Given the description of an element on the screen output the (x, y) to click on. 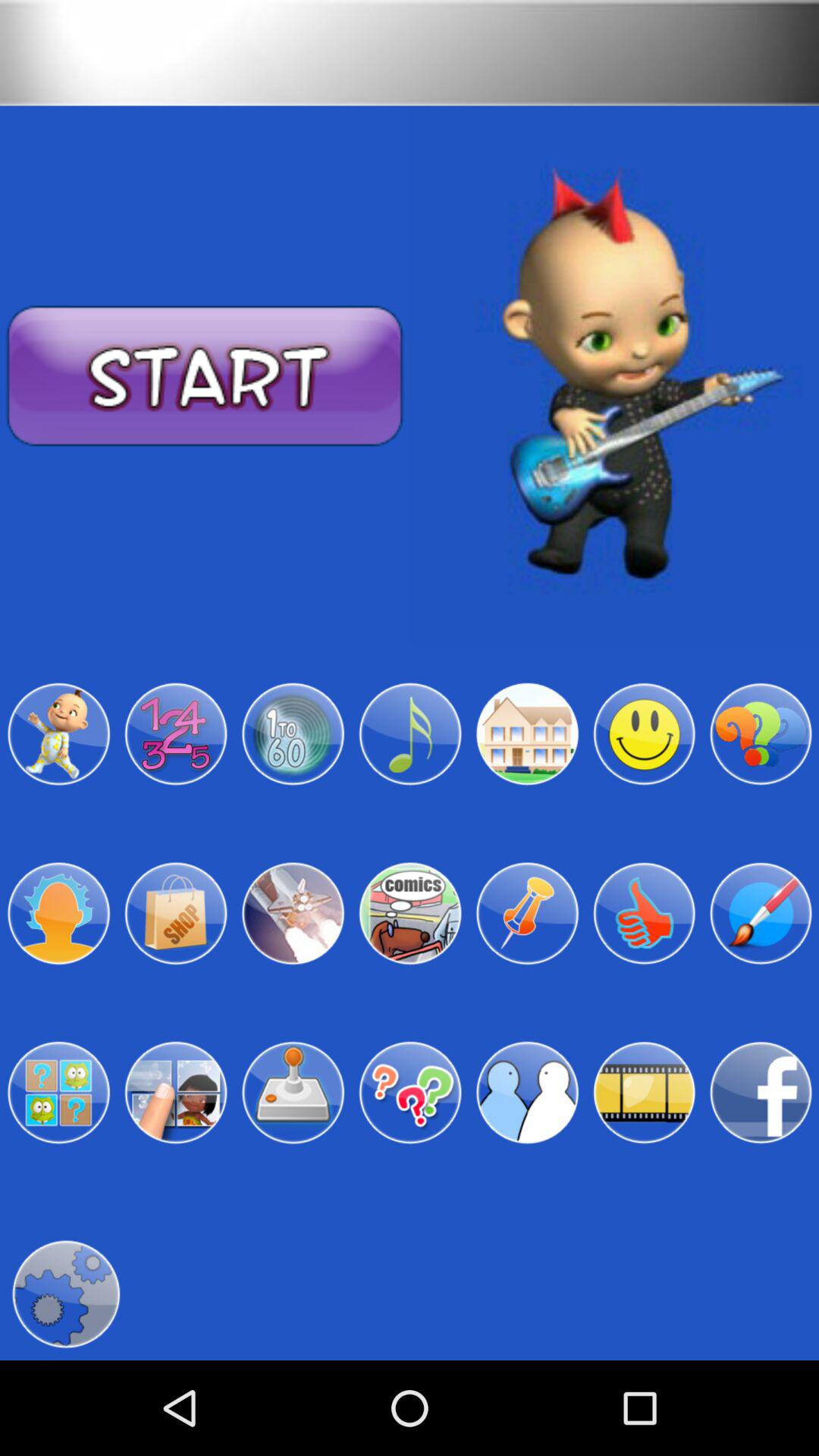
facebook icon (760, 1092)
